Given the description of an element on the screen output the (x, y) to click on. 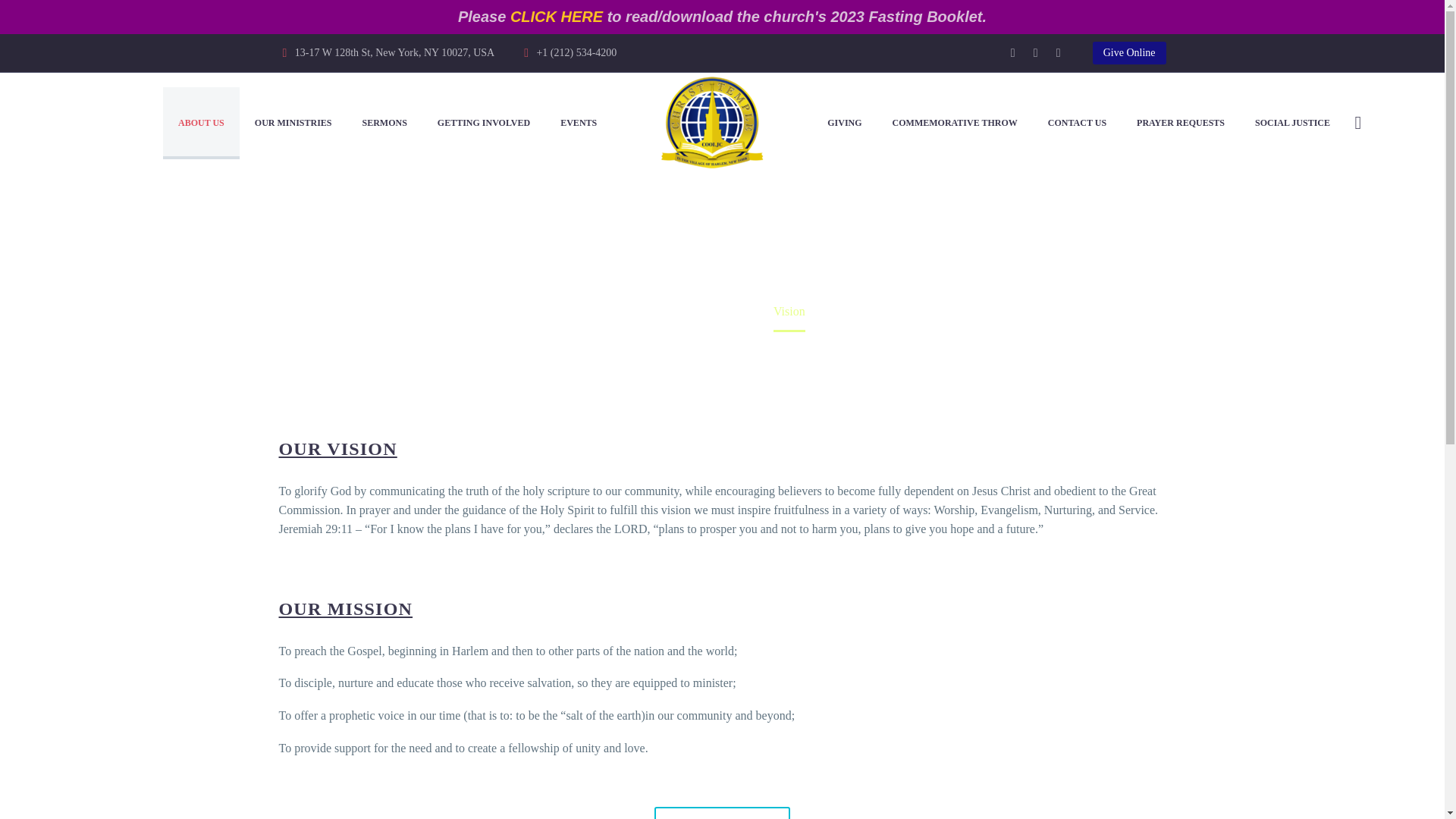
Facebook (1013, 52)
SERMONS (384, 122)
YouTube (1058, 52)
Instagram (1035, 52)
Give Online (1129, 52)
PLAN A VISIT (721, 812)
CONTACT US (1076, 122)
Home (653, 310)
Contact Us (721, 812)
OUR MINISTRIES (293, 122)
